Given the description of an element on the screen output the (x, y) to click on. 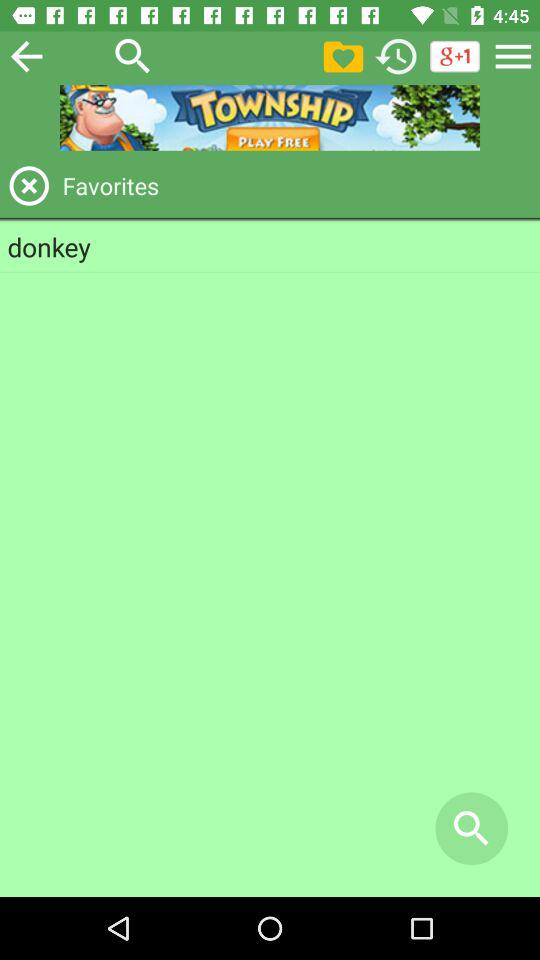
search (133, 56)
